Given the description of an element on the screen output the (x, y) to click on. 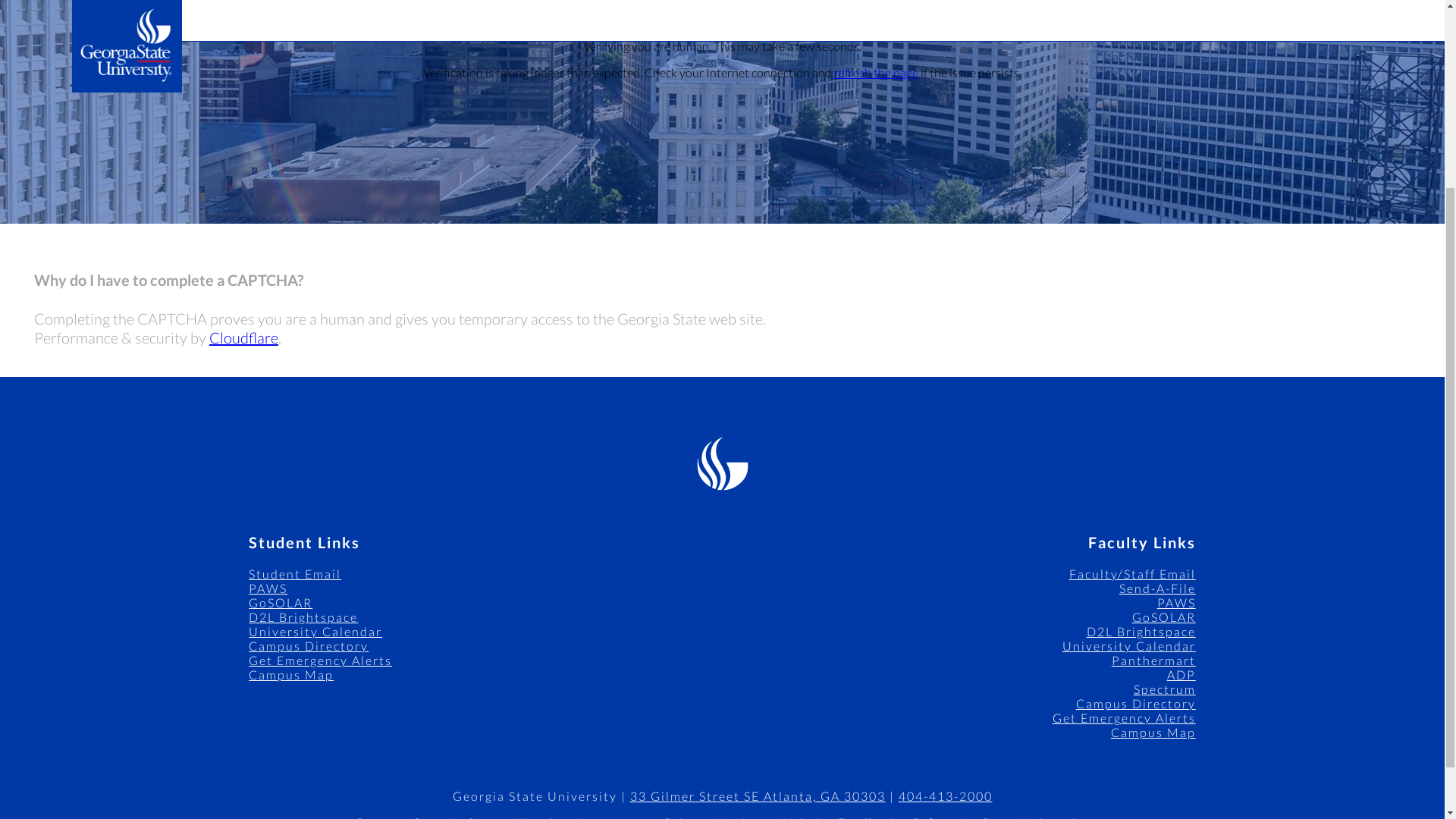
PAWS (1176, 602)
D2L Brightspace (303, 616)
refresh the page (876, 72)
University Calendar (1128, 645)
University Calendar (314, 631)
Campus Directory (308, 645)
404-413-2000 (944, 795)
PAWS (267, 587)
GoSOLAR (1163, 616)
Get Emergency Alerts (1123, 717)
